Given the description of an element on the screen output the (x, y) to click on. 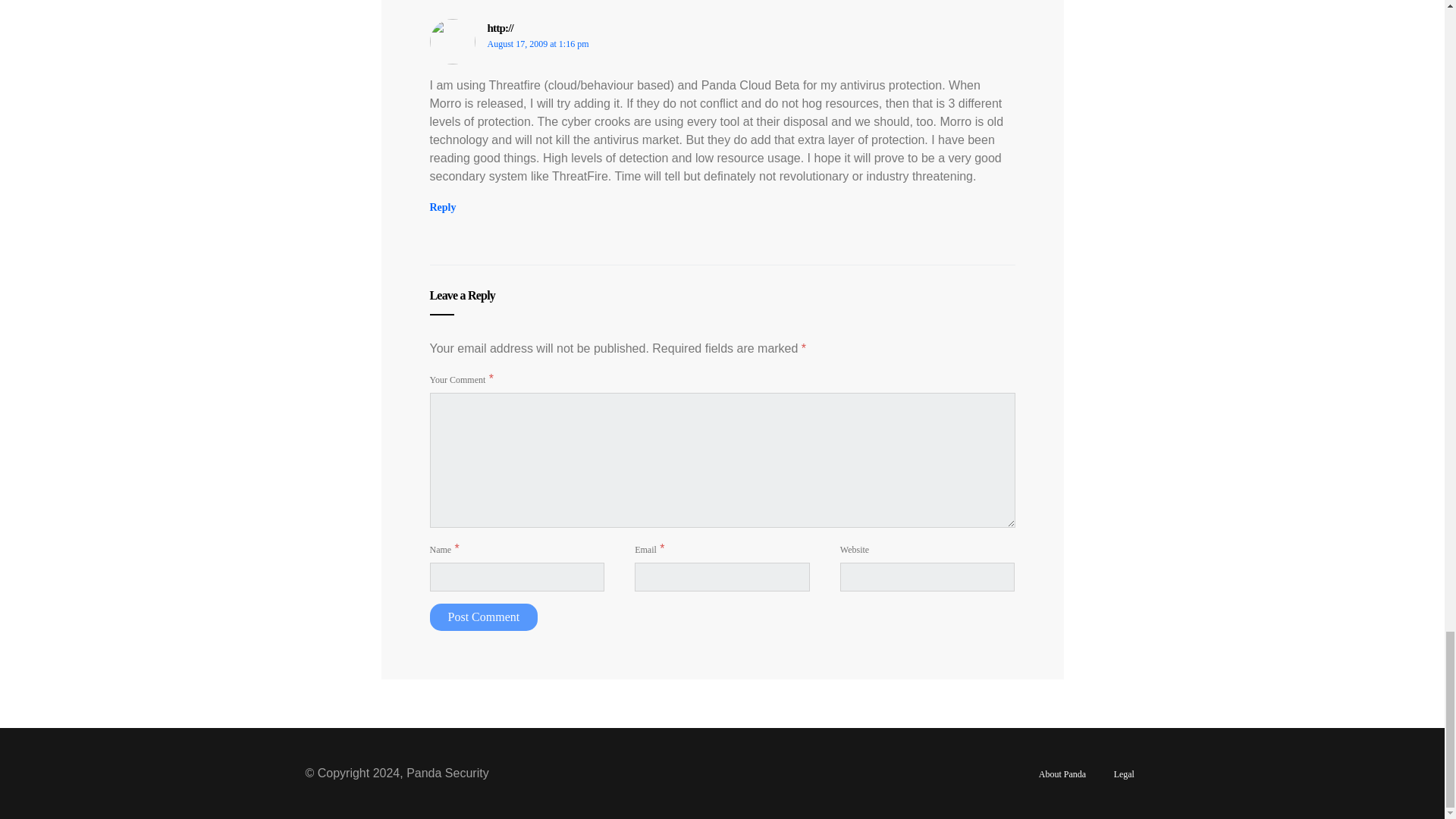
Post Comment (483, 616)
